Given the description of an element on the screen output the (x, y) to click on. 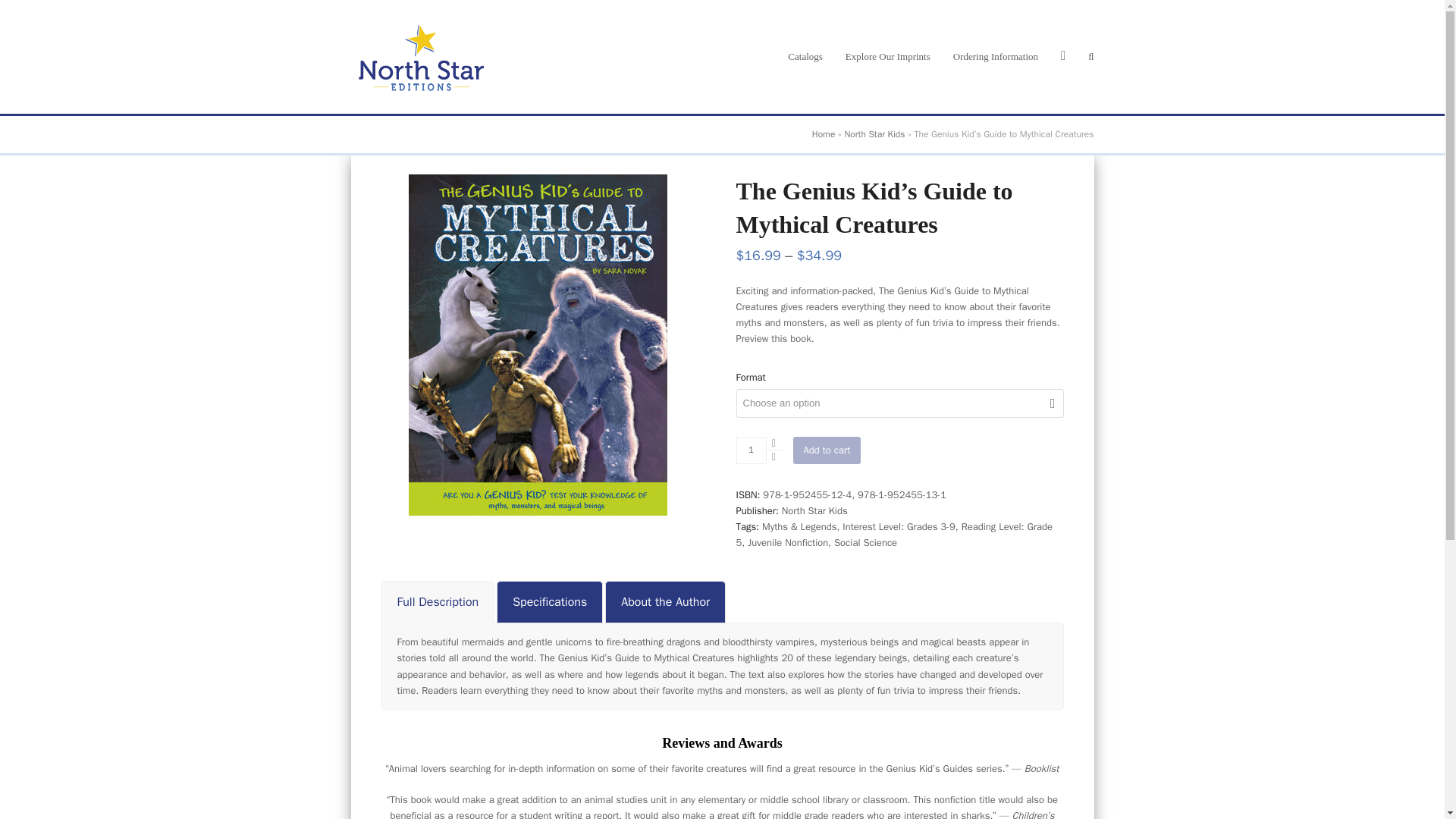
Juvenile Nonfiction (788, 542)
Explore Our Imprints (888, 56)
Home (823, 133)
Add to cart (827, 450)
Ordering Information (995, 56)
Reading Level: Grade 5 (893, 534)
1 (750, 450)
Preview this book. (774, 338)
North Star Kids (814, 510)
Catalogs (805, 56)
Social Science (865, 542)
North Star Kids (874, 133)
Interest Level: Grades 3-9 (899, 526)
